Given the description of an element on the screen output the (x, y) to click on. 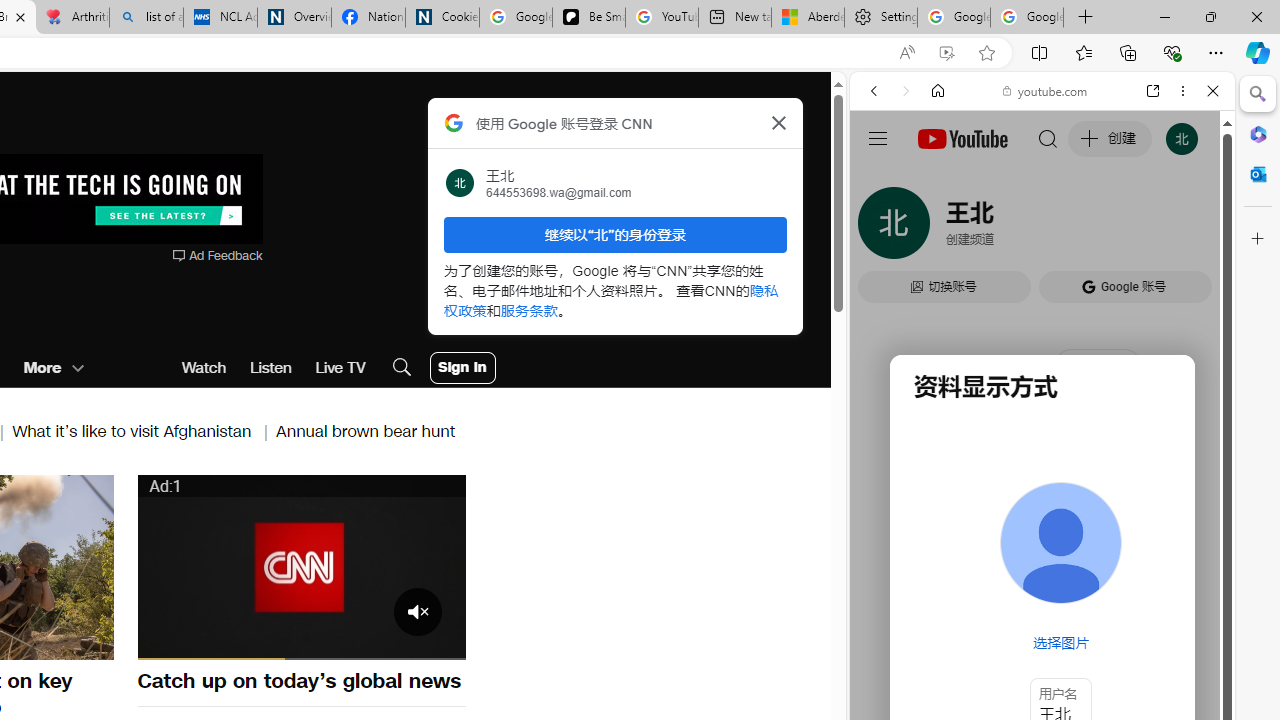
IMAGES (939, 228)
SEARCH TOOLS (1093, 228)
Forward (906, 91)
Cookies (441, 17)
Be Smart | creating Science videos | Patreon (588, 17)
